Given the description of an element on the screen output the (x, y) to click on. 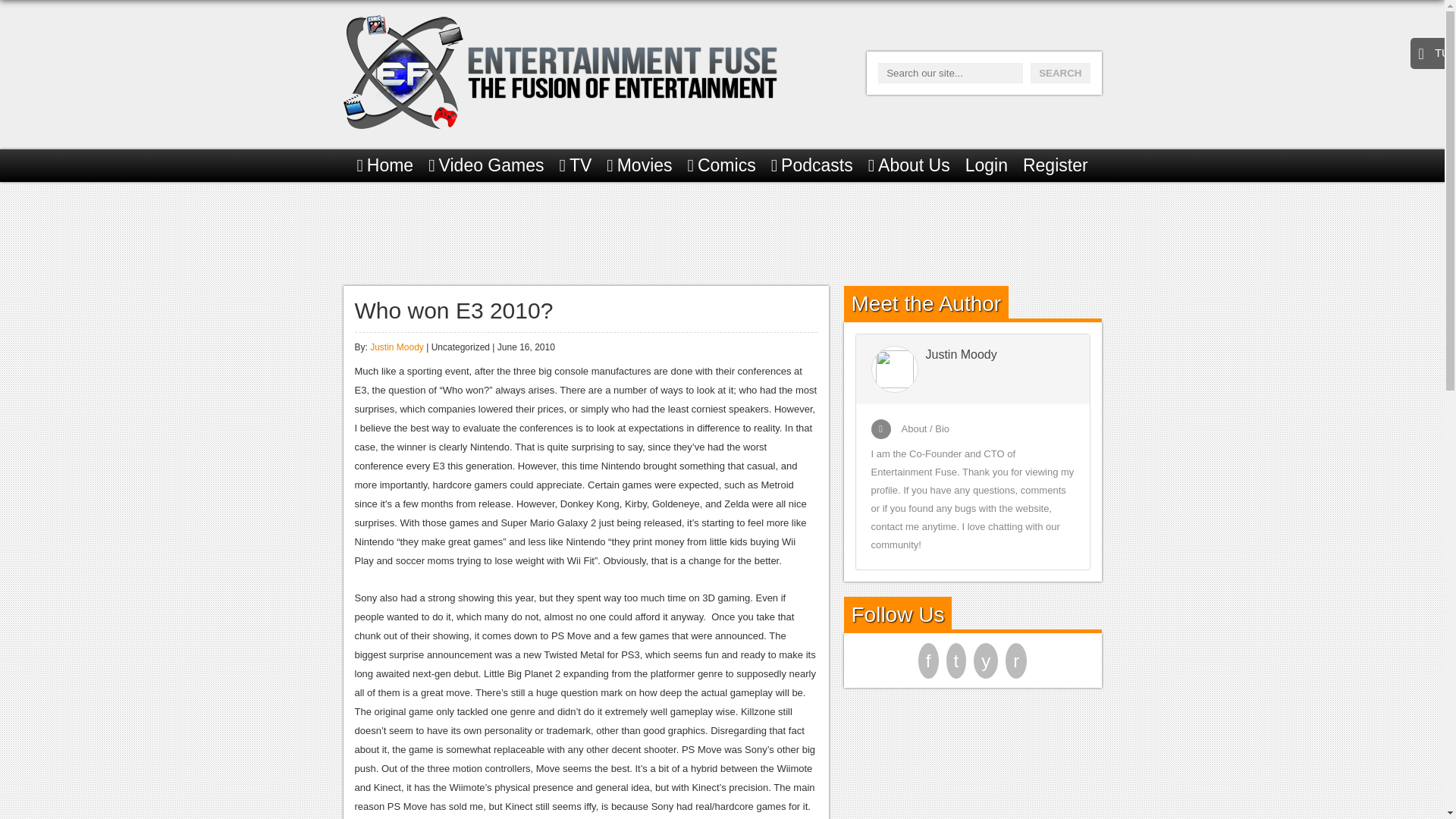
Search (1059, 73)
Search (1059, 73)
Video Games (485, 165)
Comics (721, 165)
Movies (639, 165)
Posts by Justin Moody (396, 347)
TV (575, 165)
Home (384, 165)
